Given the description of an element on the screen output the (x, y) to click on. 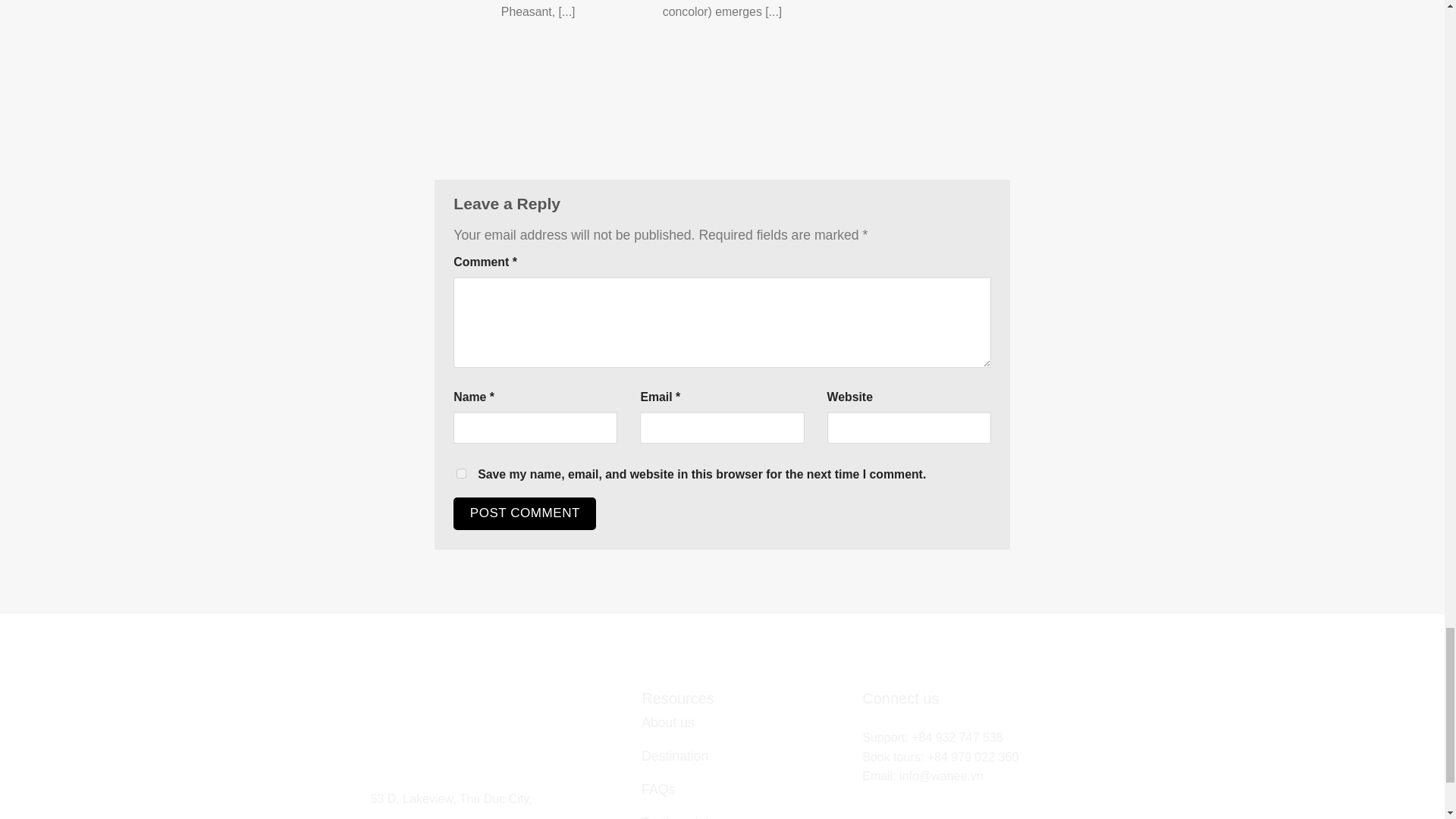
Follow on Facebook (872, 797)
Follow on Instagram (892, 797)
yes (461, 473)
Post Comment (523, 513)
